Given the description of an element on the screen output the (x, y) to click on. 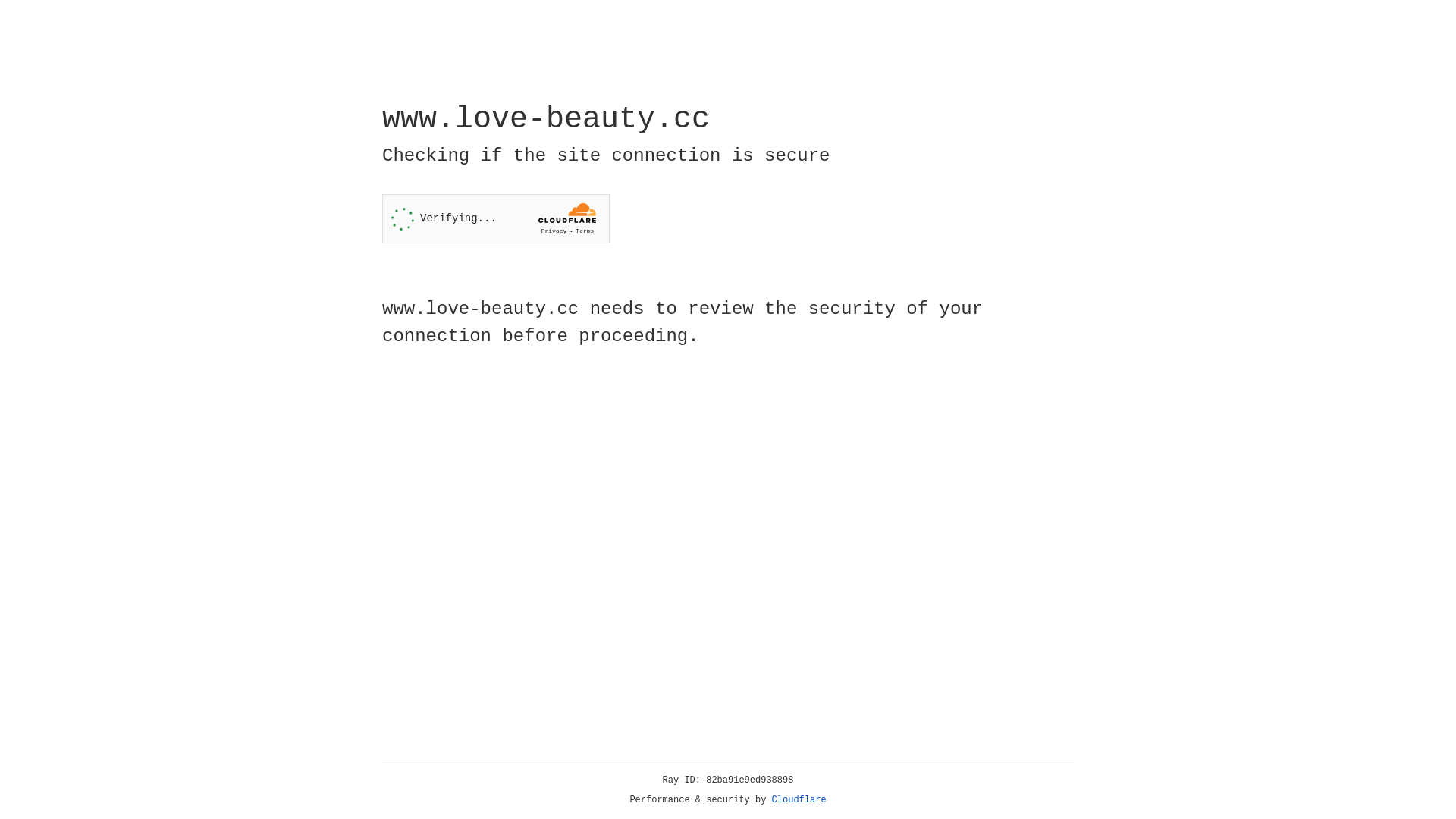
Cloudflare Element type: text (798, 799)
Widget containing a Cloudflare security challenge Element type: hover (495, 218)
